Given the description of an element on the screen output the (x, y) to click on. 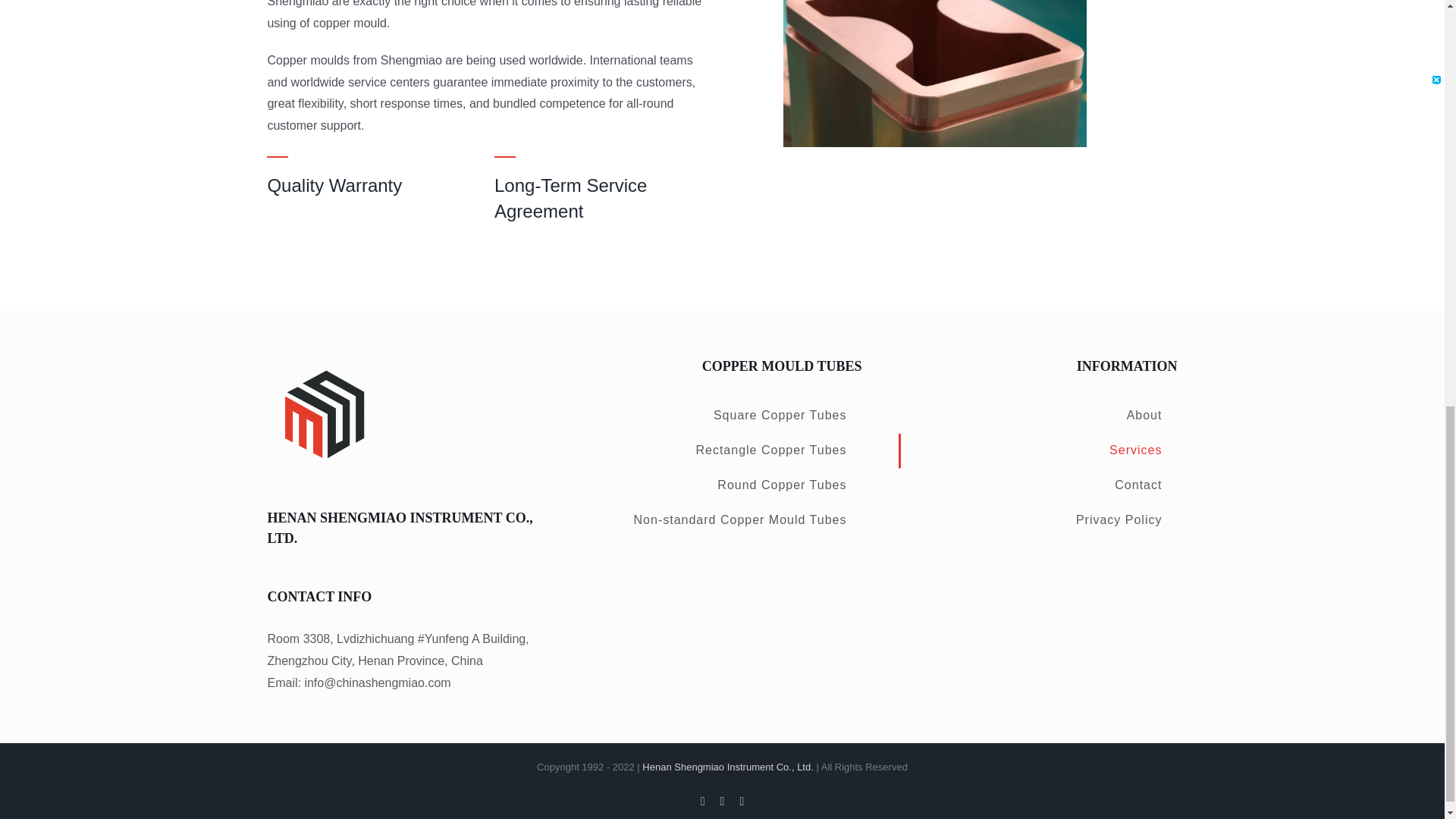
Rectangle Copper Tubes (722, 451)
Henan Shengmiao Instrument Co., Ltd. (727, 767)
Privacy Policy (1037, 520)
About (1037, 416)
Services (1037, 451)
Round Copper Tubes (722, 485)
v3-Non-standard Copper Tubes-ChinaShengmiao (934, 73)
Square Copper Tubes (722, 416)
Non-standard Copper Mould Tubes (722, 520)
Contact (1037, 485)
